Given the description of an element on the screen output the (x, y) to click on. 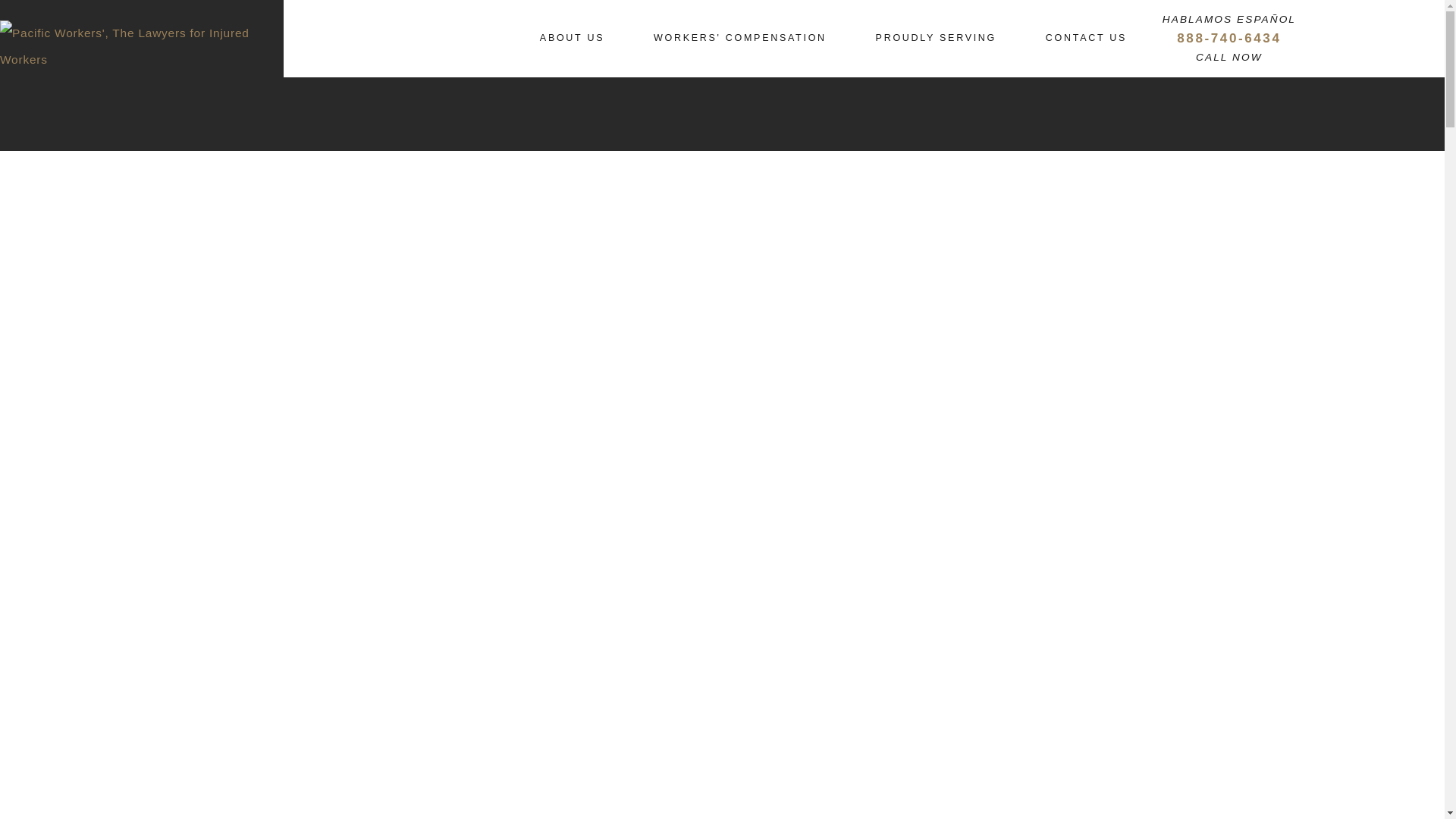
Open the accessibility options menu (31, 786)
ABOUT US (572, 37)
Search Our Site (1316, 38)
PROUDLY SERVING (935, 37)
WORKERS' COMPENSATION (740, 37)
Pacific Workers', The Lawyers for Injured Workers (141, 46)
